Given the description of an element on the screen output the (x, y) to click on. 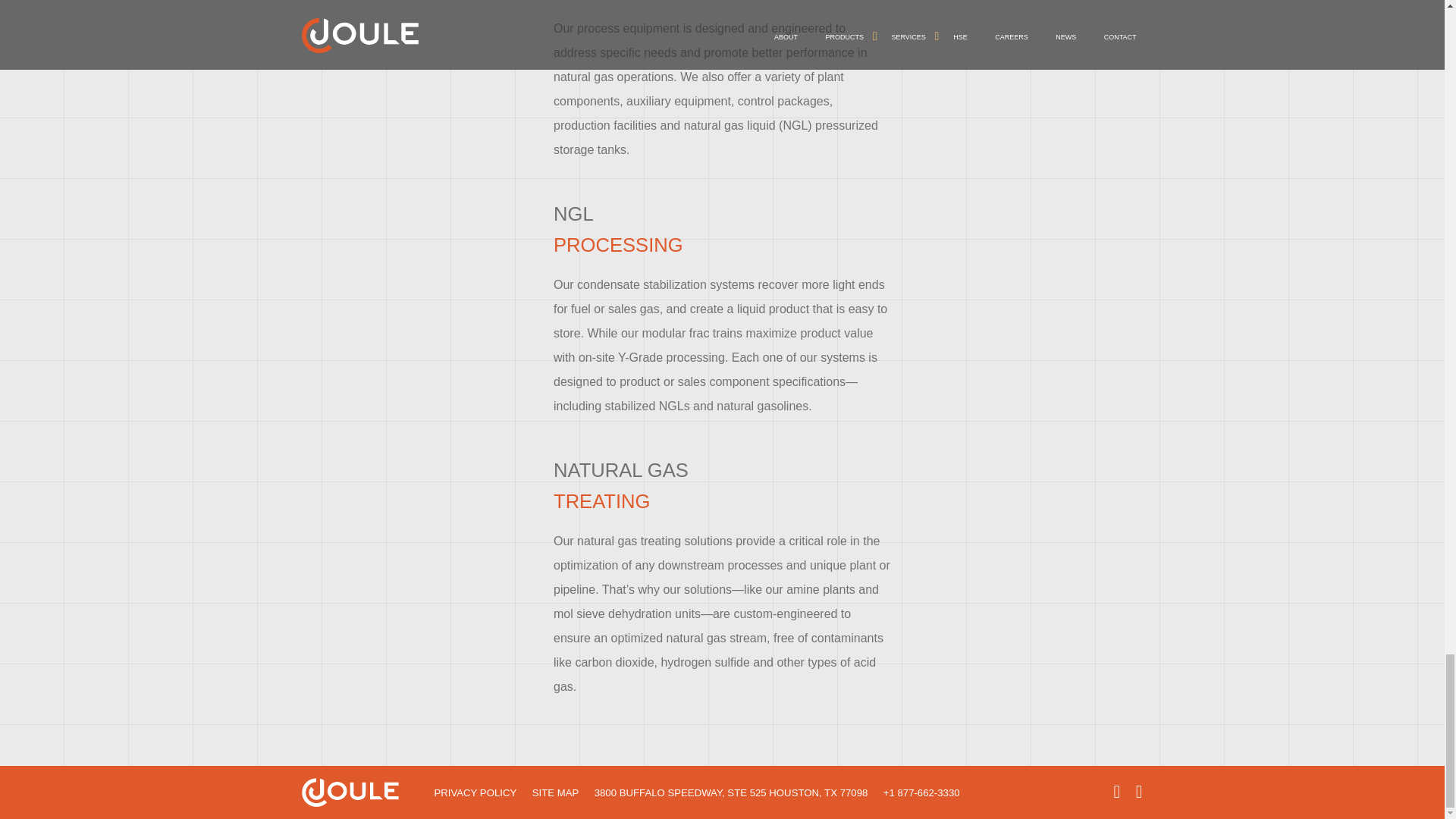
SITE MAP (555, 792)
PRIVACY POLICY (474, 792)
3800 BUFFALO SPEEDWAY, STE 525 HOUSTON, TX 77098 (730, 792)
